Given the description of an element on the screen output the (x, y) to click on. 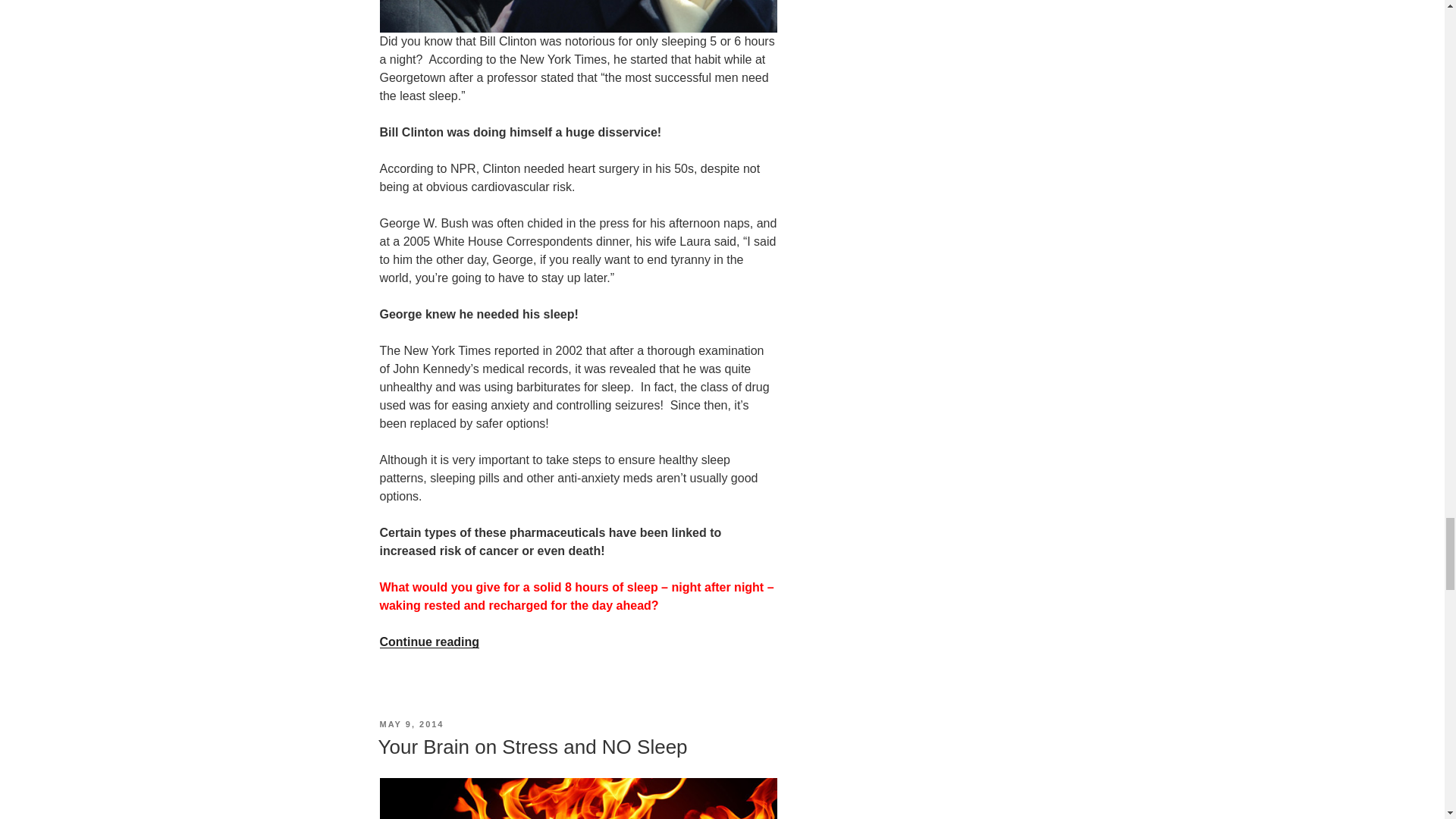
MAY 9, 2014 (411, 723)
Your Brain on Stress and NO Sleep (532, 746)
